Given the description of an element on the screen output the (x, y) to click on. 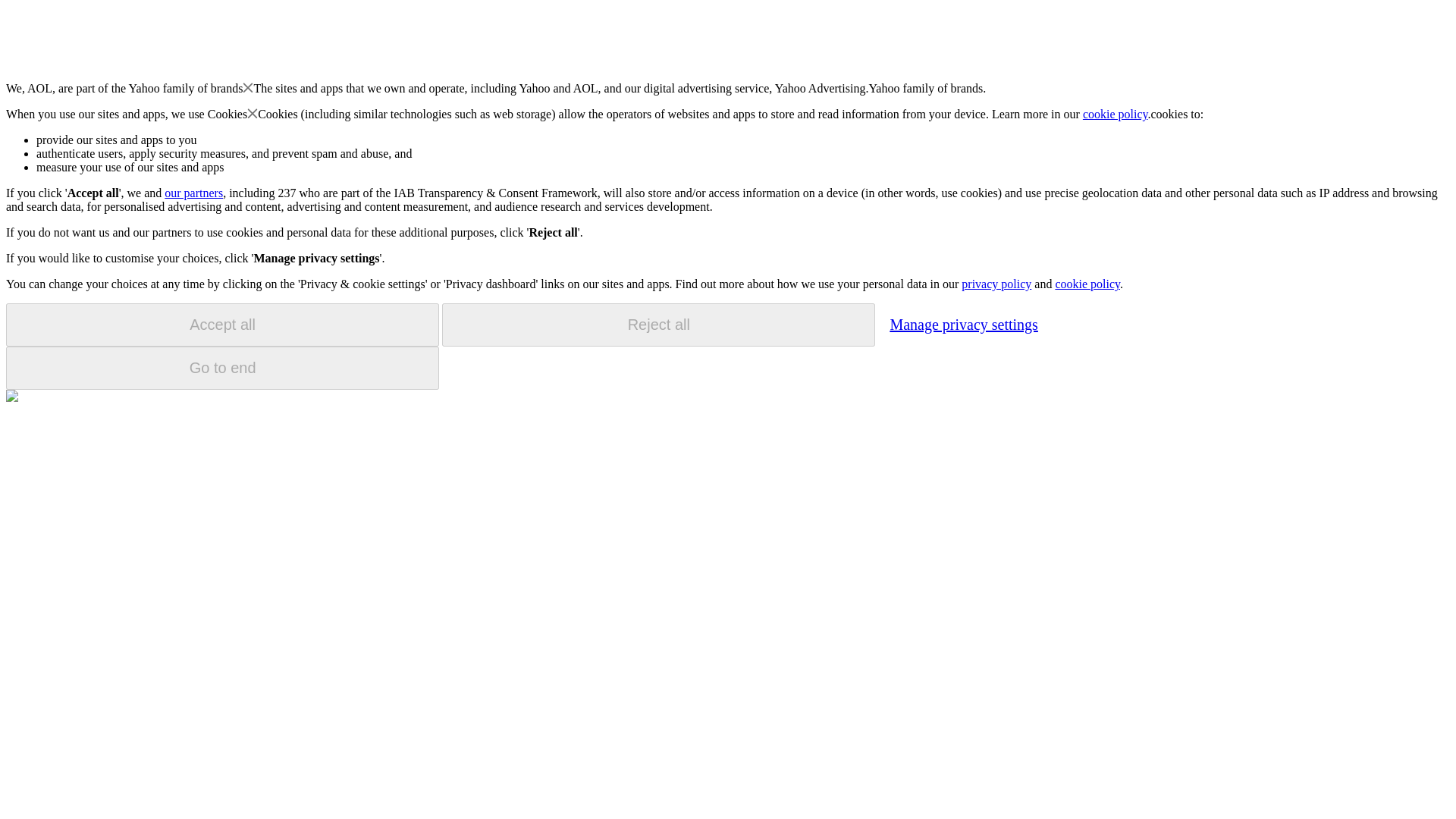
privacy policy (995, 283)
Manage privacy settings (963, 323)
our partners (193, 192)
Reject all (658, 324)
Accept all (222, 324)
cookie policy (1086, 283)
Go to end (222, 367)
cookie policy (1115, 113)
